Given the description of an element on the screen output the (x, y) to click on. 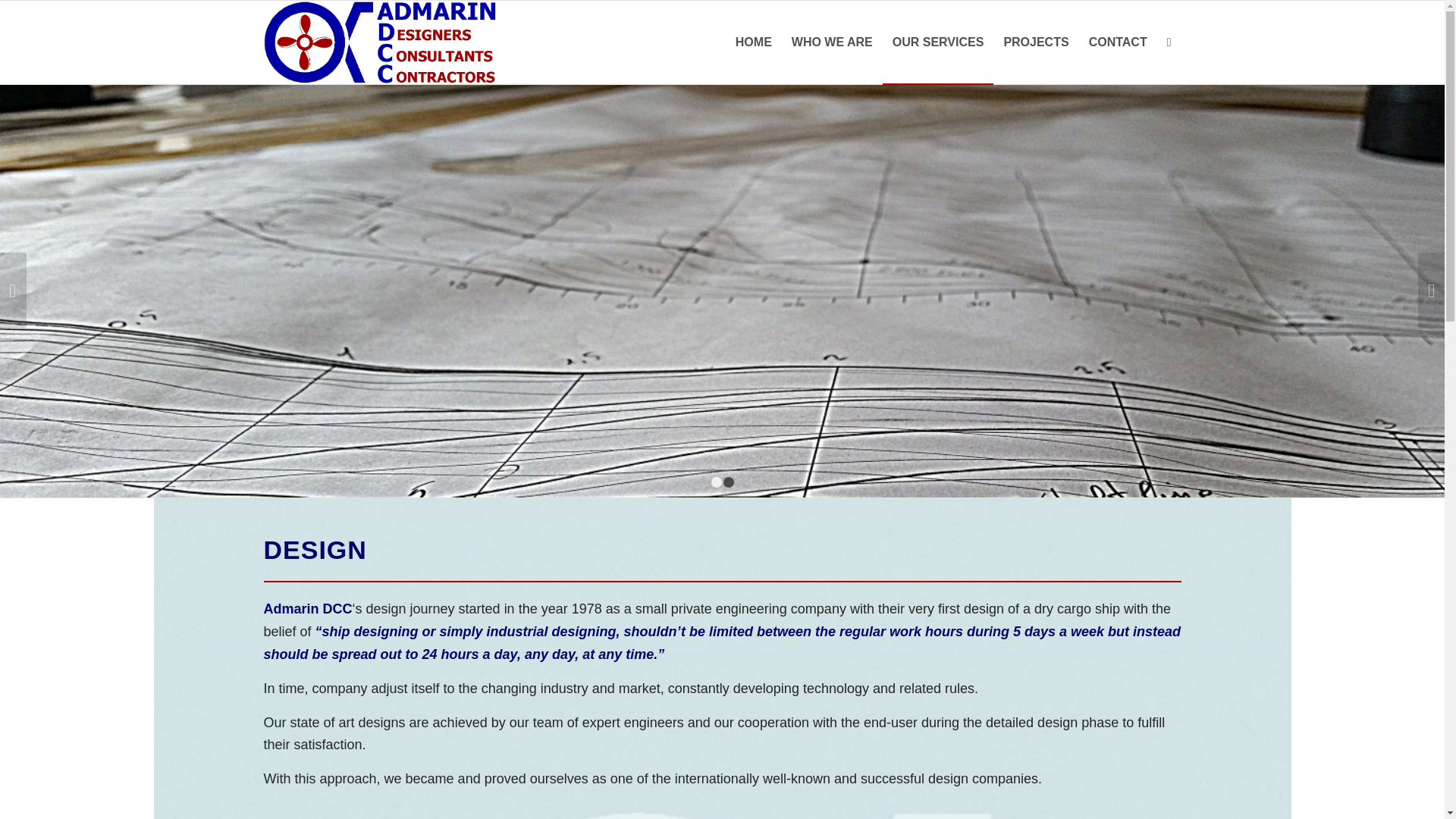
WHO WE ARE (831, 42)
CONTACT (1117, 42)
1 (716, 481)
OUR SERVICES (938, 42)
PROJECTS (1035, 42)
2 (728, 481)
